Given the description of an element on the screen output the (x, y) to click on. 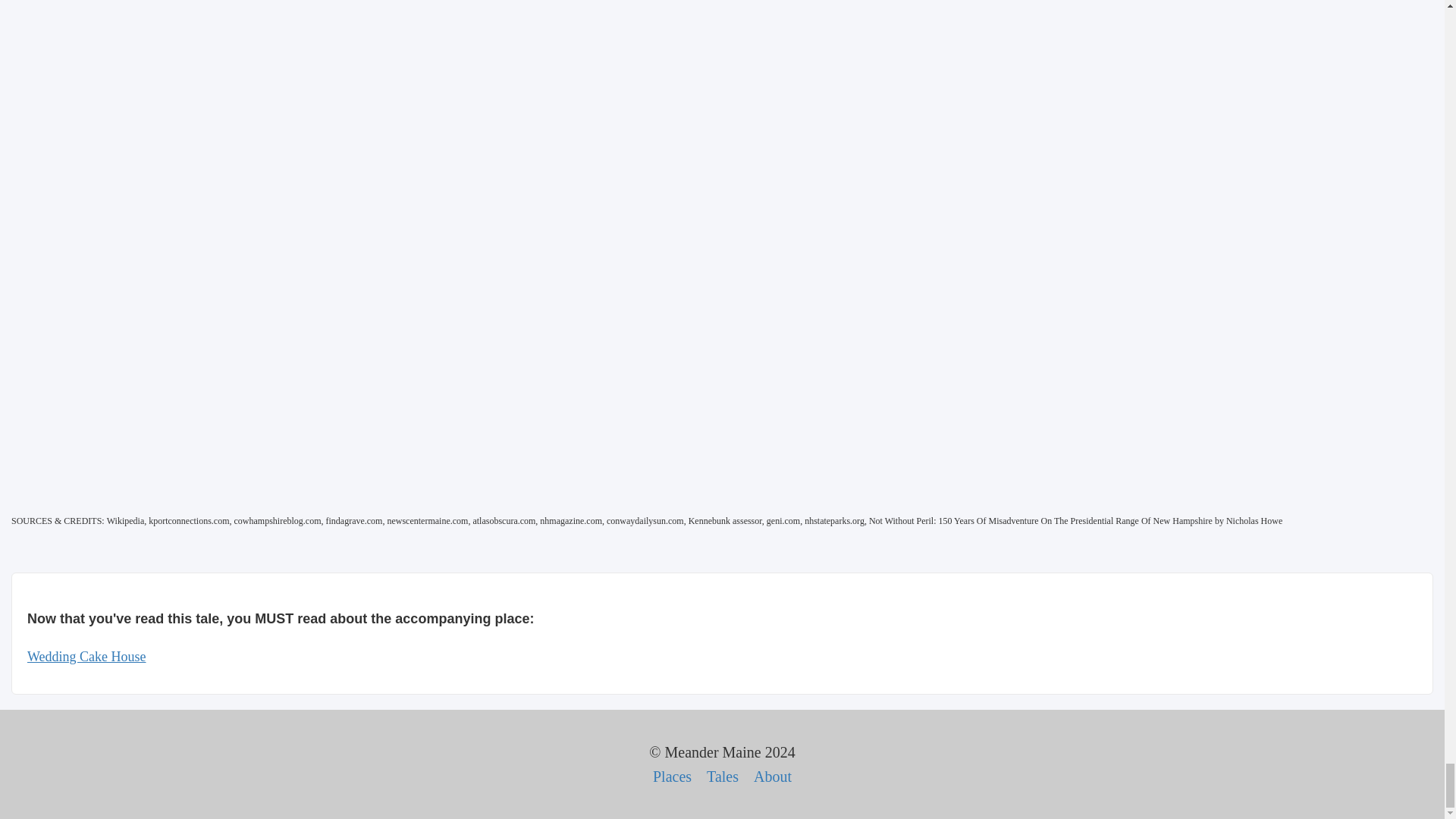
About (773, 776)
Places (671, 776)
Tales (722, 776)
Wedding Cake House (87, 656)
